Given the description of an element on the screen output the (x, y) to click on. 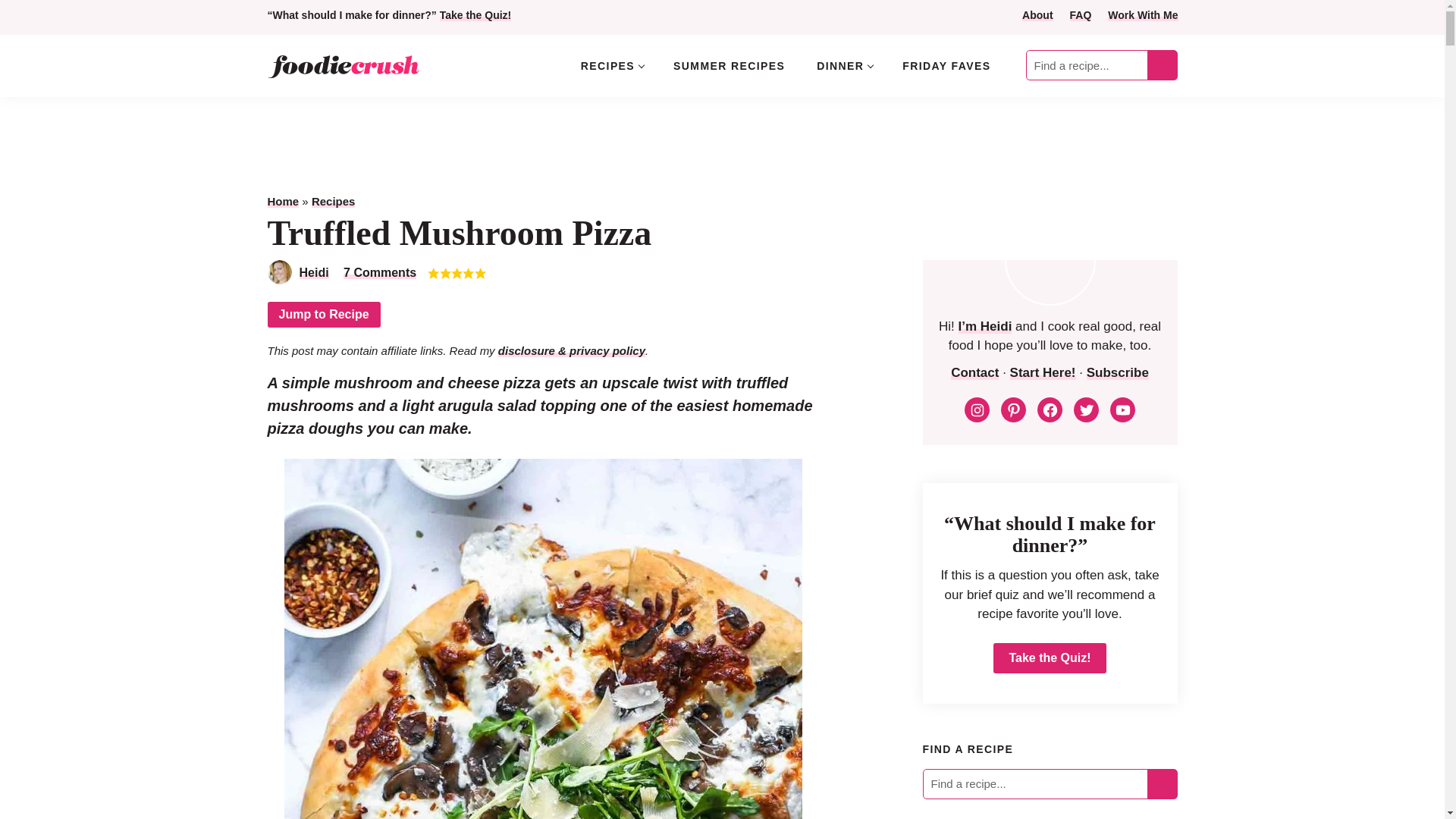
RECIPES (611, 65)
Submit search (1162, 65)
Heidi (313, 272)
About (1037, 15)
FAQ (1081, 15)
Home (282, 201)
Submit search (1162, 65)
Submit search (1162, 783)
Submit search (1162, 65)
FRIDAY FAVES (946, 65)
Work With Me (1142, 15)
DINNER (843, 65)
Take the Quiz! (475, 15)
SUMMER RECIPES (728, 65)
